Given the description of an element on the screen output the (x, y) to click on. 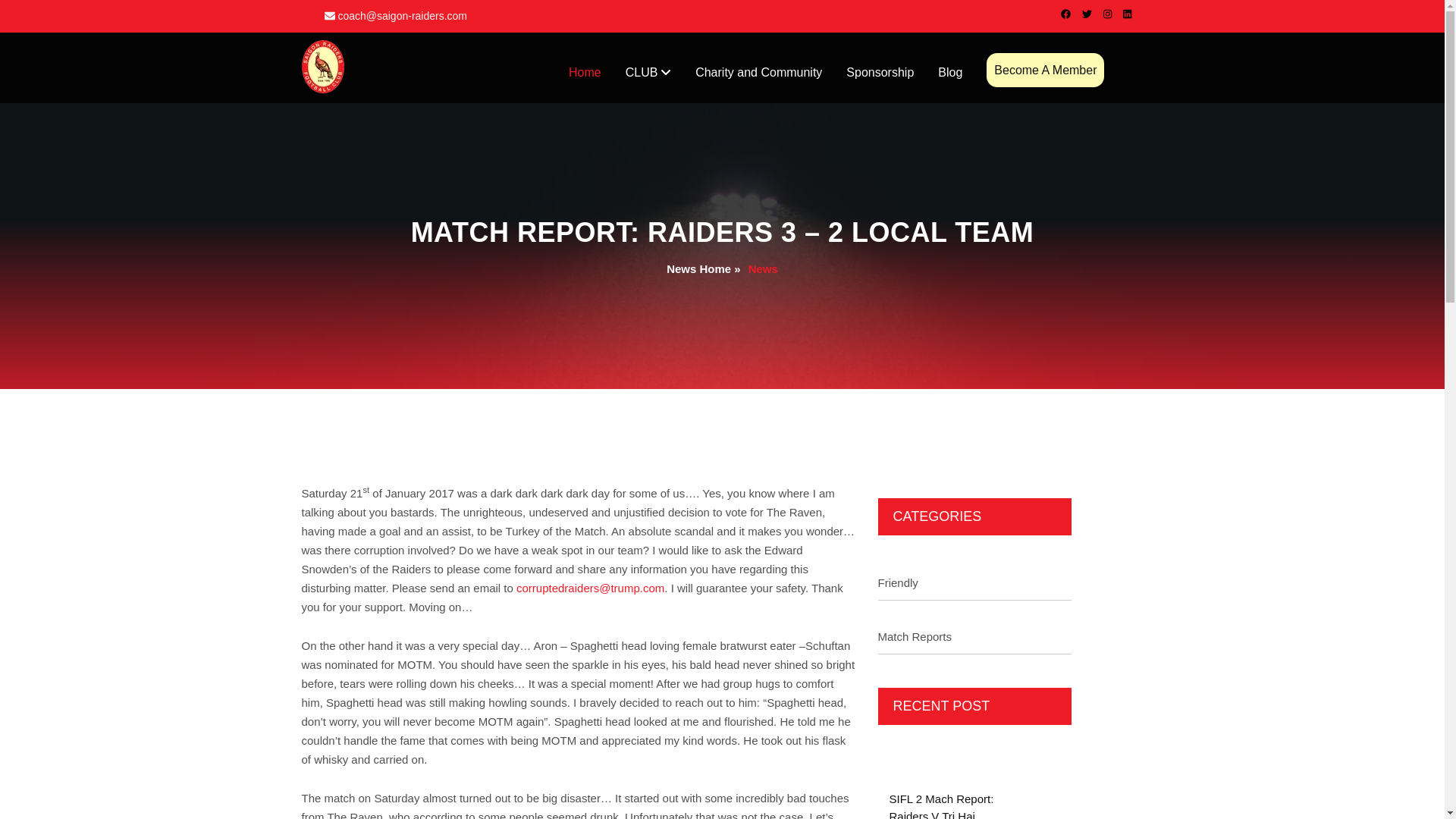
CLUB (647, 72)
Become A Member (1045, 69)
Sponsorship (880, 72)
Home (584, 72)
Match Reports (974, 628)
SIFL 2 Mach Report: Raiders V Tri Hai FC, 02.04.2023 (940, 805)
Friendly (974, 574)
Charity and Community (758, 72)
